Given the description of an element on the screen output the (x, y) to click on. 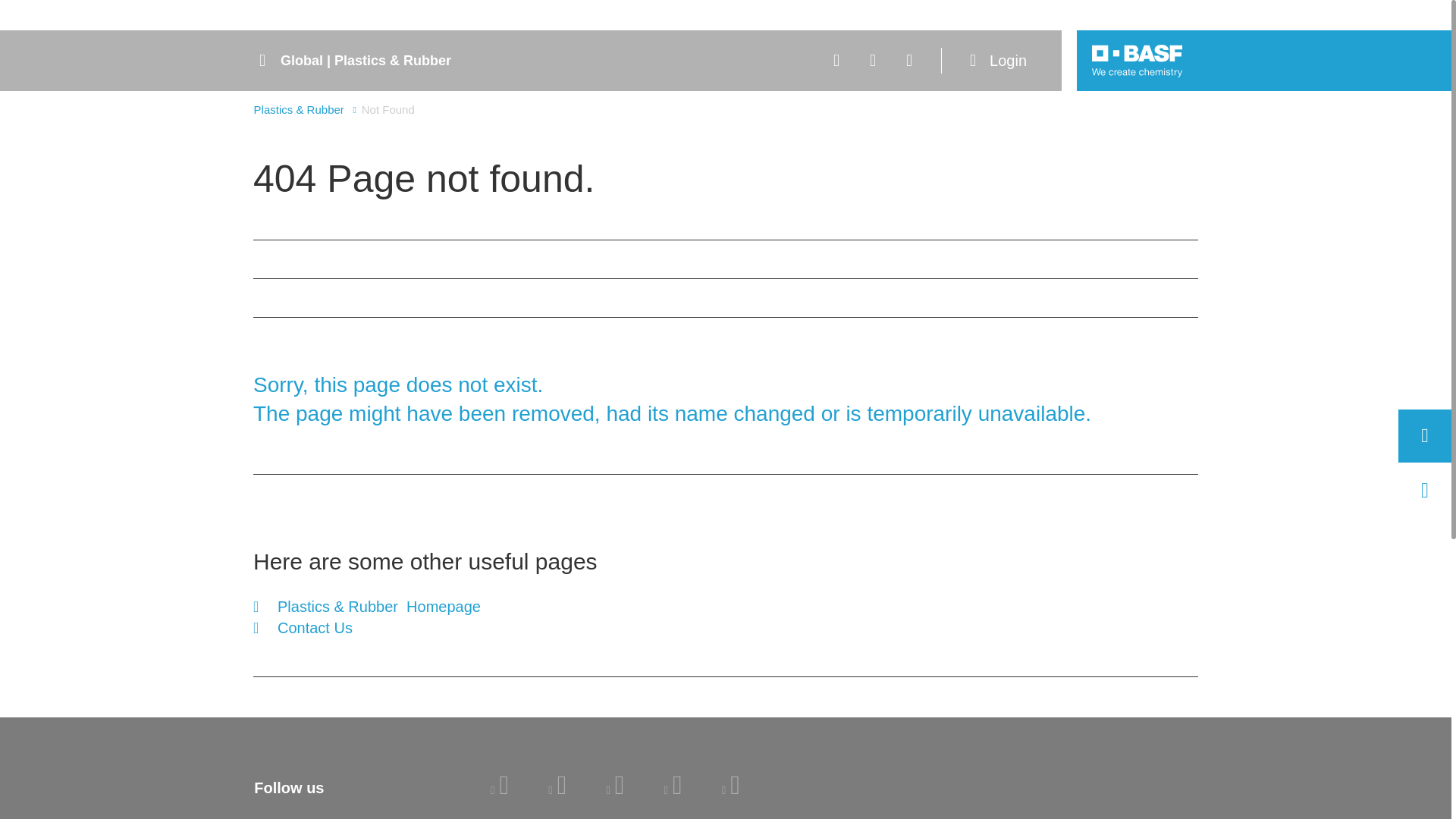
Join us in Facebook (557, 789)
Not Found (387, 109)
Join us in twitter (614, 789)
Contact Us (366, 627)
Not Found (387, 109)
Login (1001, 60)
Join us in LinkedIn (499, 789)
Contact Us (366, 627)
Join us in Youtube (672, 789)
Follow us on Instagram (730, 789)
